Given the description of an element on the screen output the (x, y) to click on. 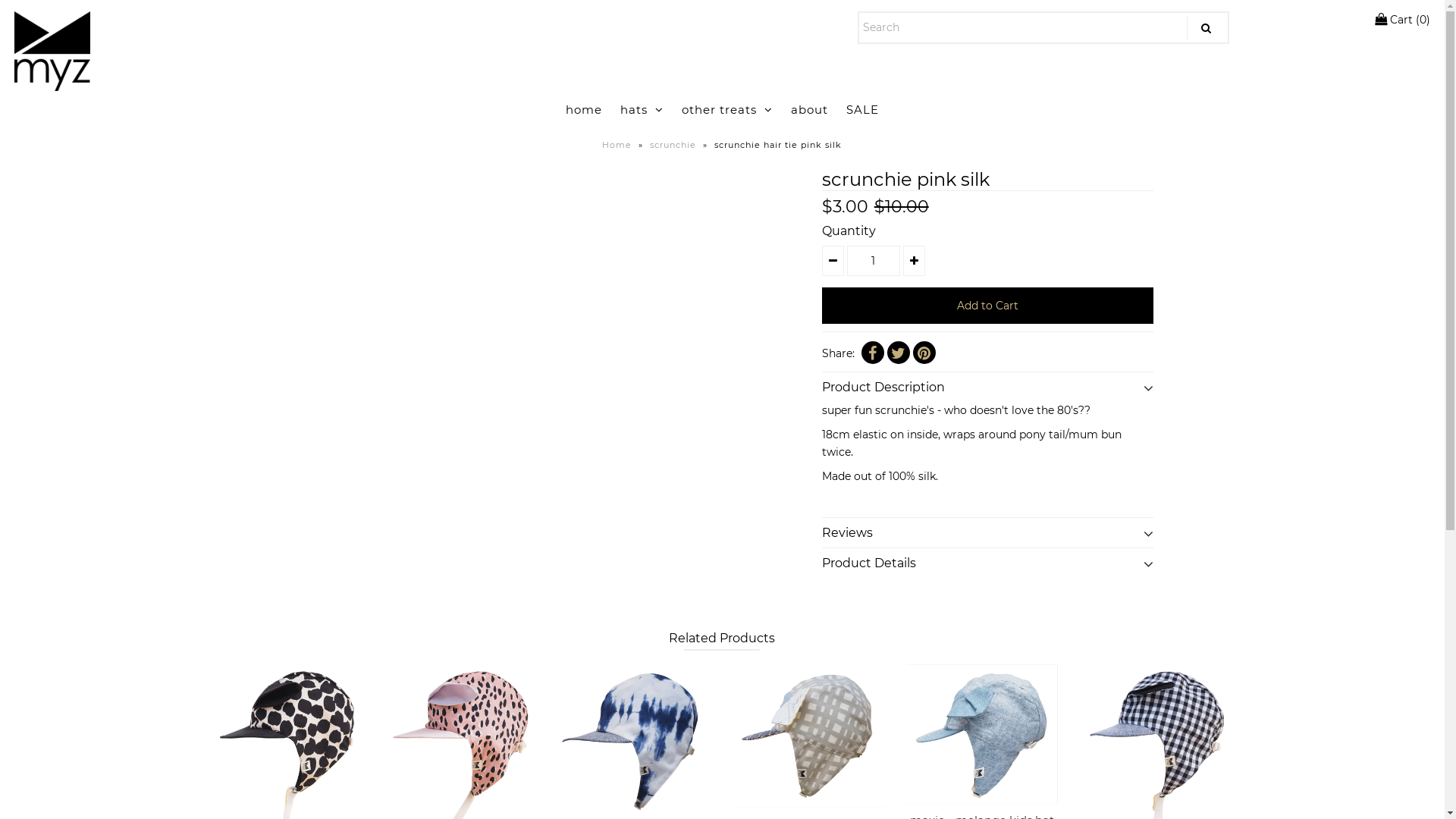
Product Description Element type: text (988, 383)
other treats Element type: text (727, 109)
Share on Twitter Element type: hover (898, 352)
about Element type: text (809, 109)
Product Details Element type: text (988, 559)
Cart (0) Element type: text (1401, 19)
Share on Facebook Element type: hover (872, 352)
home Element type: text (583, 109)
Reviews Element type: text (988, 528)
scrunchie Element type: text (674, 144)
hats Element type: text (641, 109)
SALE Element type: text (862, 109)
maxie - racer (6-12M ONLY) Element type: hover (808, 735)
Add to Cart Element type: text (988, 305)
Home Element type: text (618, 144)
Share on Pinterest Element type: hover (924, 352)
maxie - melange kids hat Element type: hover (981, 734)
tommy - tie dye Element type: hover (635, 739)
